Given the description of an element on the screen output the (x, y) to click on. 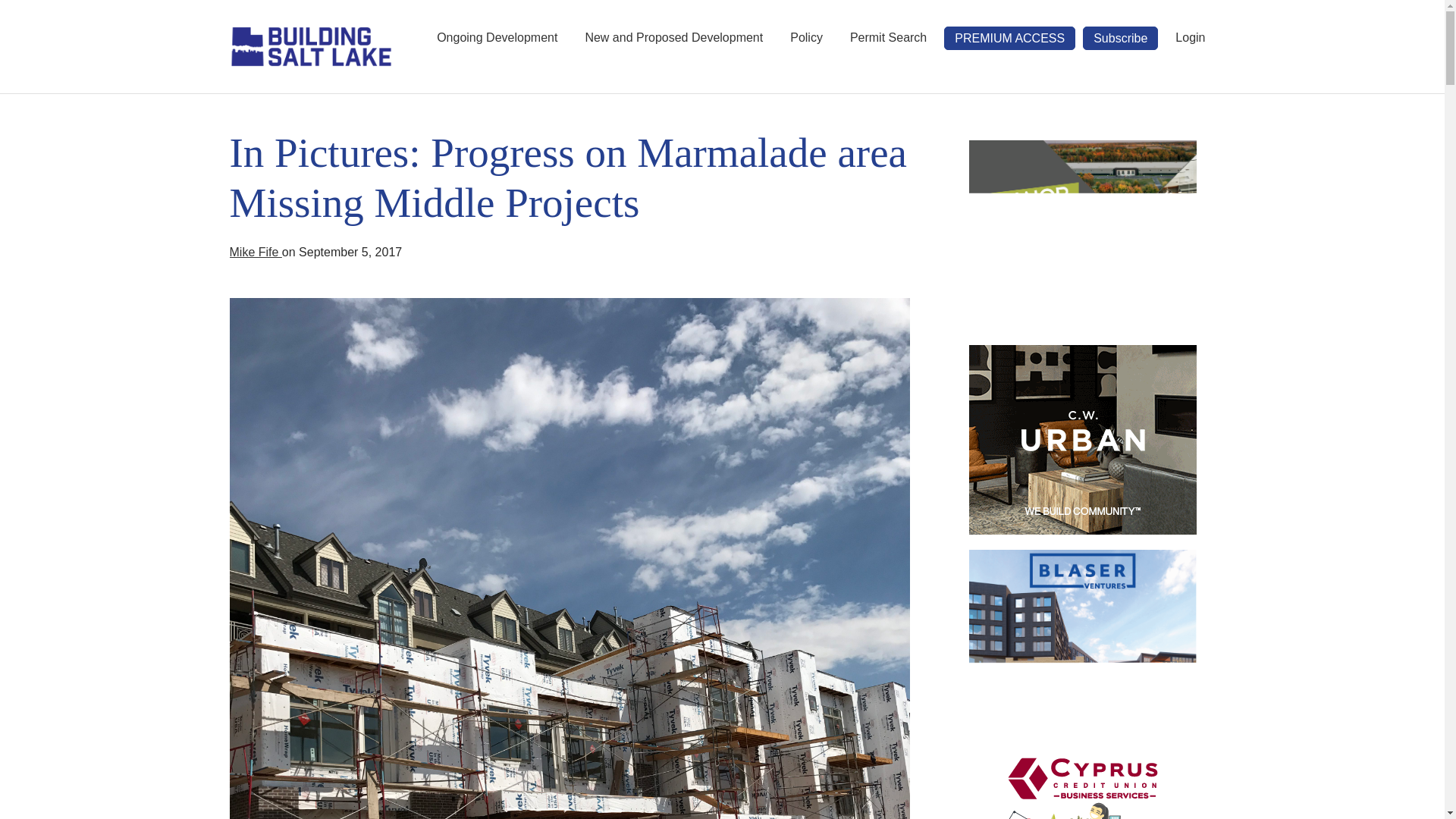
Permit Search (888, 37)
Ongoing Development (496, 37)
Login (1190, 37)
Mike Fife (254, 251)
New and Proposed Development (674, 37)
PREMIUM ACCESS (1009, 38)
Subscribe (1120, 38)
Policy (806, 37)
